Given the description of an element on the screen output the (x, y) to click on. 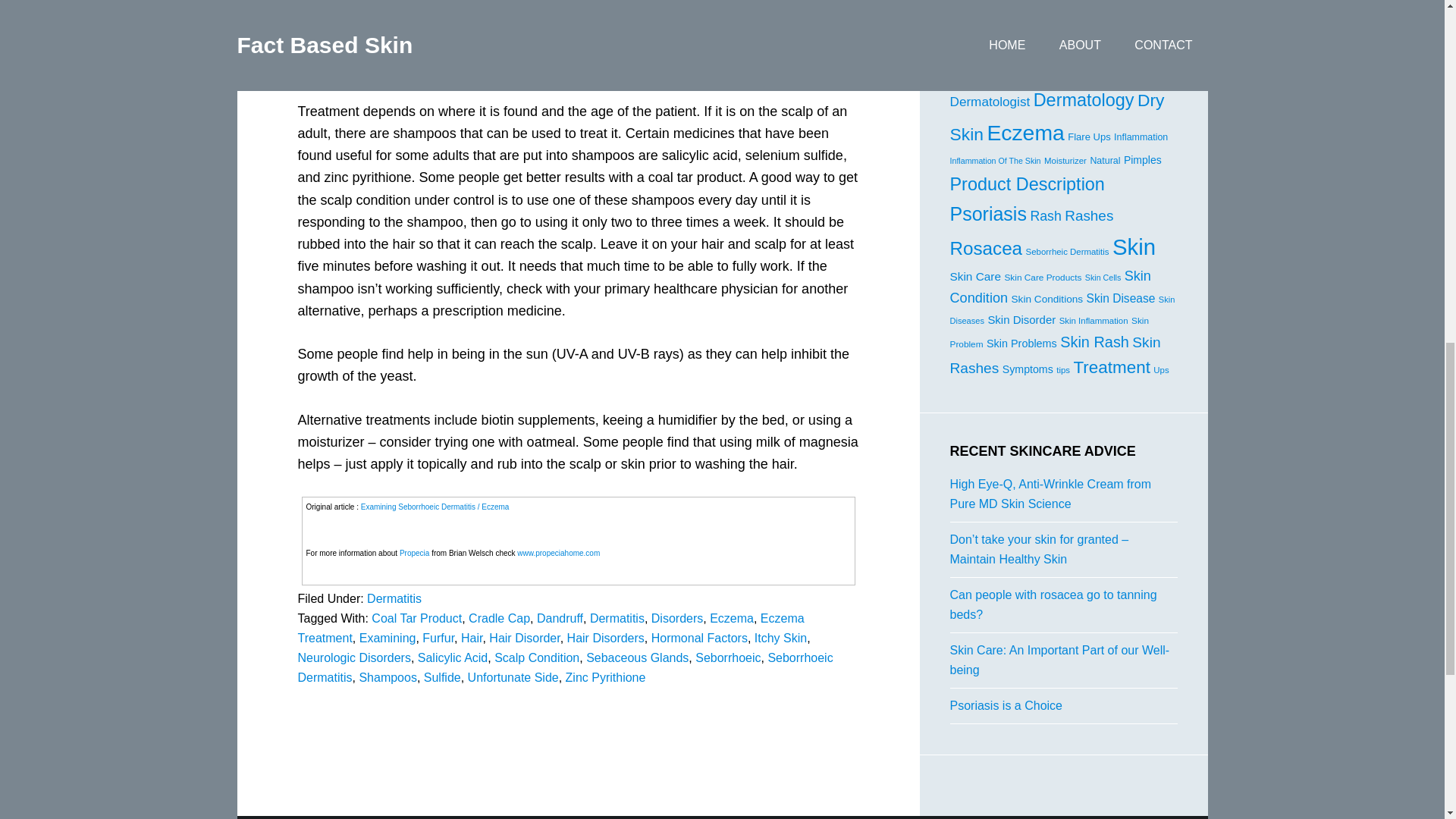
Dermatitis (394, 598)
Acne Rosacea (1012, 26)
Shampoos (387, 676)
Dermatitis (617, 617)
Neurologic Disorders (353, 657)
Itchy Skin (780, 637)
Unfortunate Side (513, 676)
Dandruff (560, 617)
Hormonal Factors (699, 637)
www.propeciahome.com (557, 552)
Hair Disorders (606, 637)
Scalp Condition (537, 657)
Sulfide (442, 676)
Zinc Pyrithione (606, 676)
Examining (387, 637)
